Given the description of an element on the screen output the (x, y) to click on. 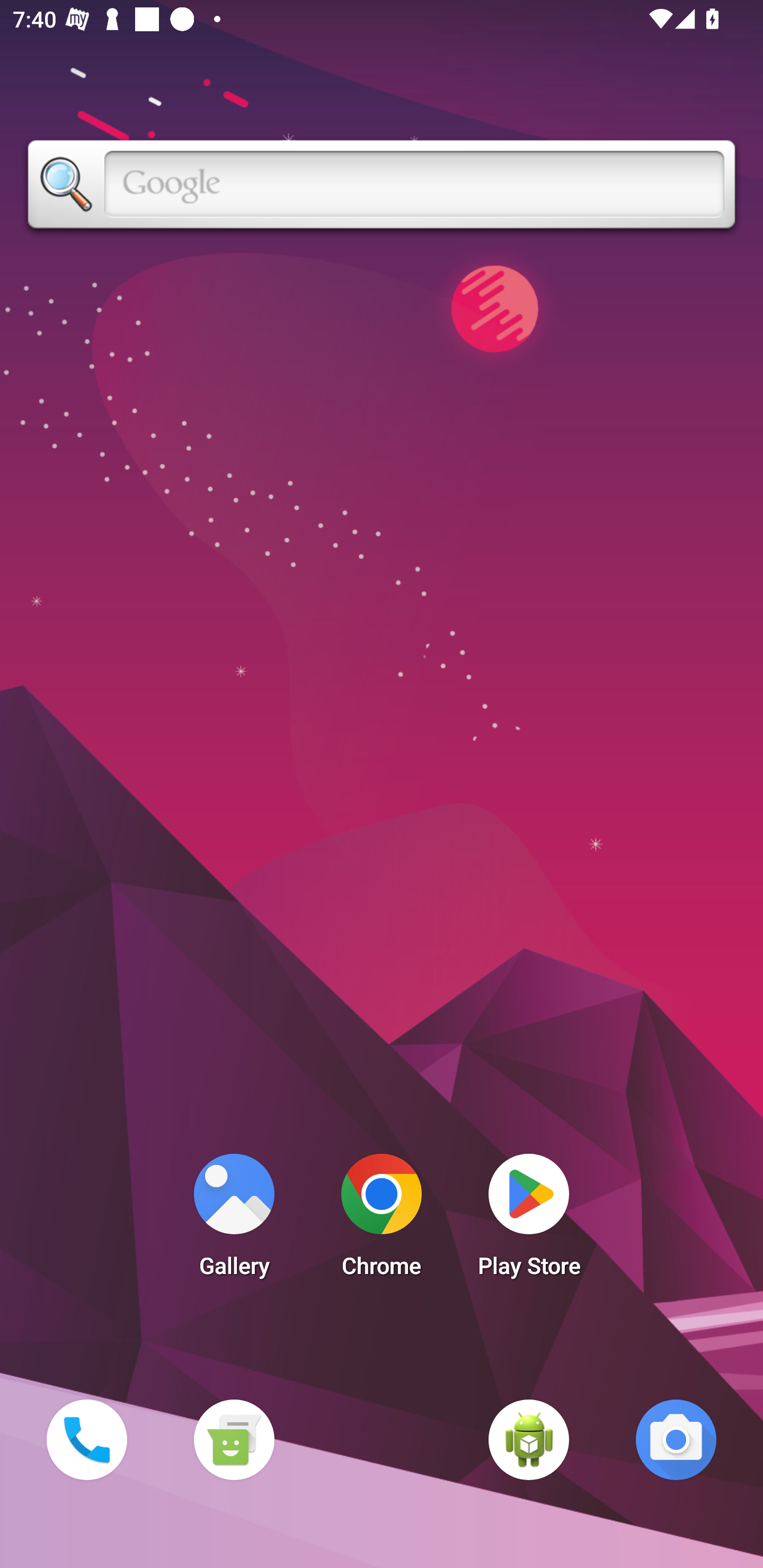
Gallery (233, 1220)
Chrome (381, 1220)
Play Store (528, 1220)
Phone (86, 1439)
Messaging (233, 1439)
WebView Browser Tester (528, 1439)
Camera (676, 1439)
